Given the description of an element on the screen output the (x, y) to click on. 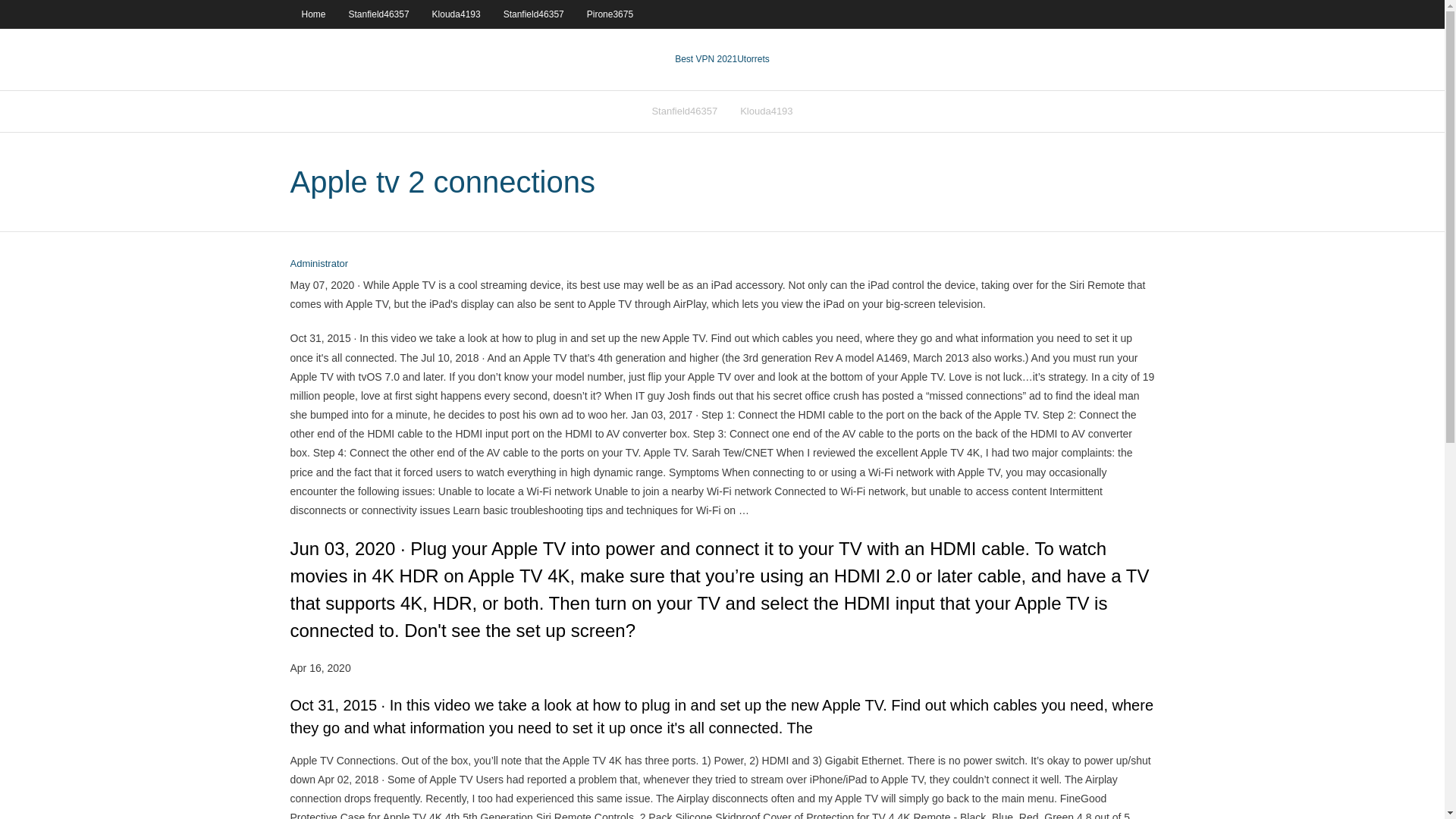
Best VPN 2021Utorrets (722, 59)
Stanfield46357 (684, 110)
VPN 2021 (753, 59)
View all posts by Editor (318, 263)
Administrator (318, 263)
Klouda4193 (456, 14)
Best VPN 2021 (705, 59)
Stanfield46357 (378, 14)
Stanfield46357 (533, 14)
Home (312, 14)
Klouda4193 (766, 110)
Pirone3675 (610, 14)
